Given the description of an element on the screen output the (x, y) to click on. 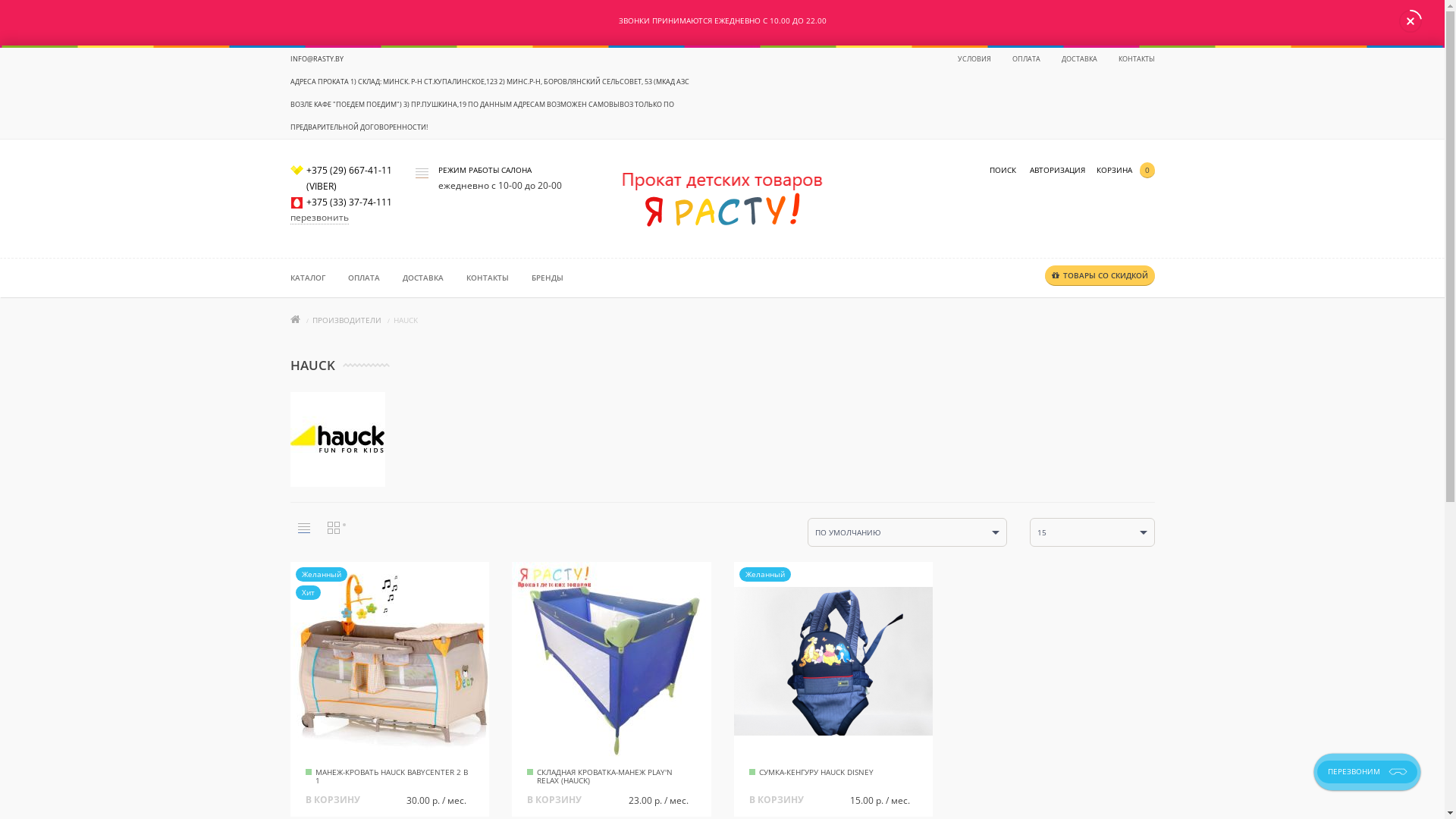
Hauck Element type: hover (336, 439)
0 Element type: text (1142, 170)
